Given the description of an element on the screen output the (x, y) to click on. 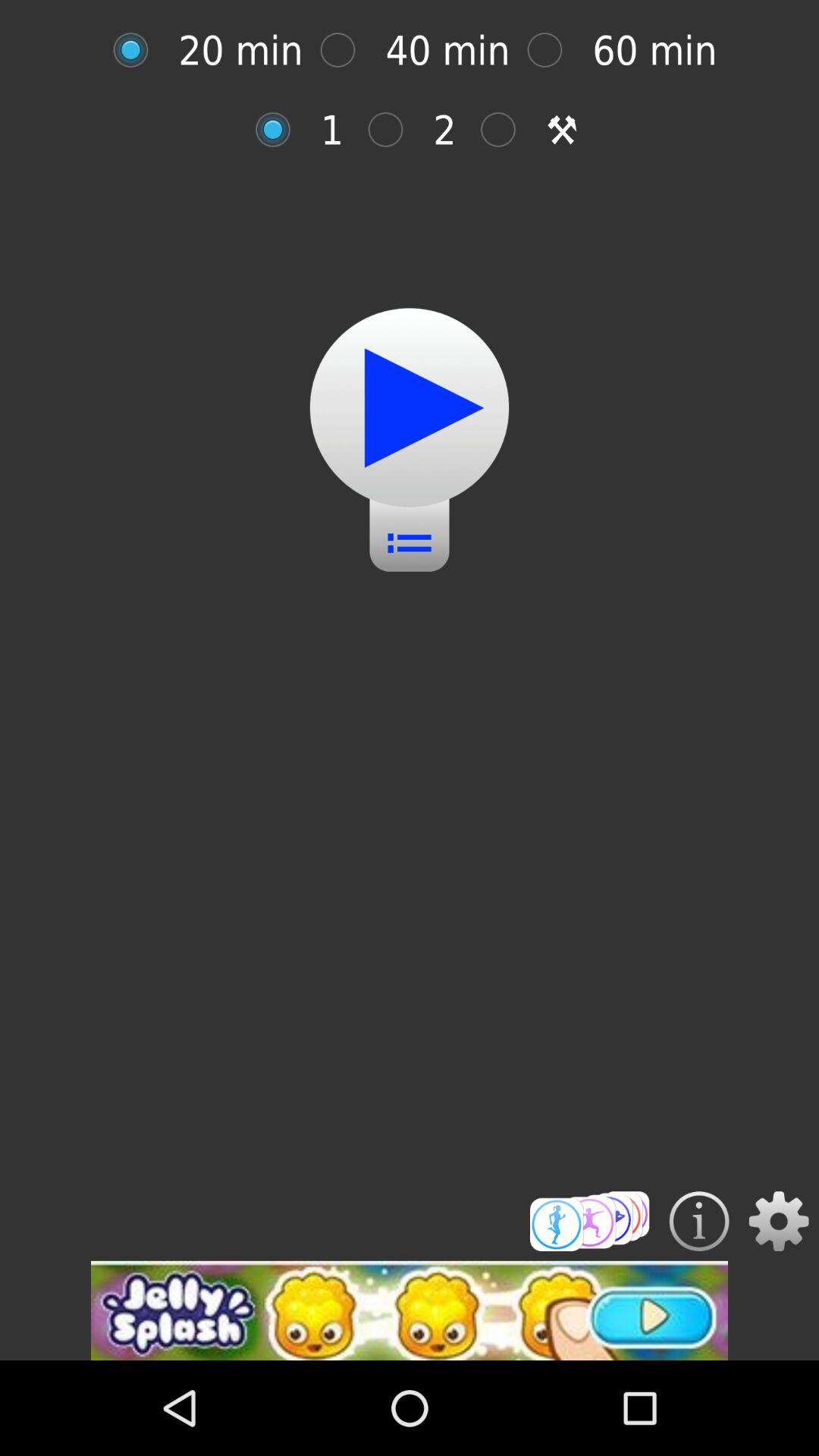
time (589, 1221)
